Given the description of an element on the screen output the (x, y) to click on. 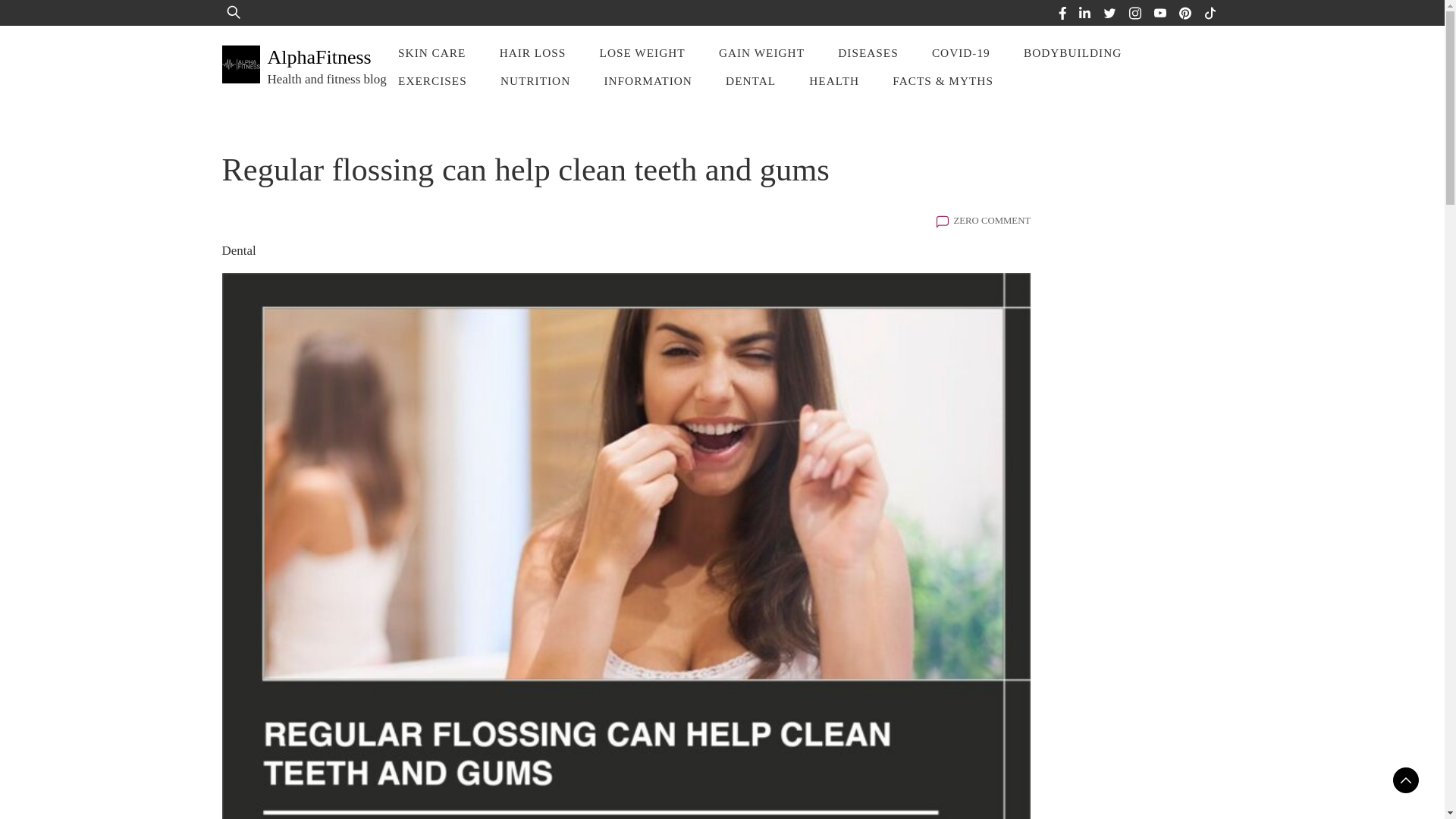
LOSE WEIGHT (642, 52)
SKIN CARE (431, 52)
GAIN WEIGHT (761, 52)
EXERCISES (431, 80)
BODYBUILDING (1073, 52)
Search (58, 22)
DISEASES (867, 52)
HAIR LOSS (532, 52)
AlphaFitness (318, 56)
COVID-19 (961, 52)
